Given the description of an element on the screen output the (x, y) to click on. 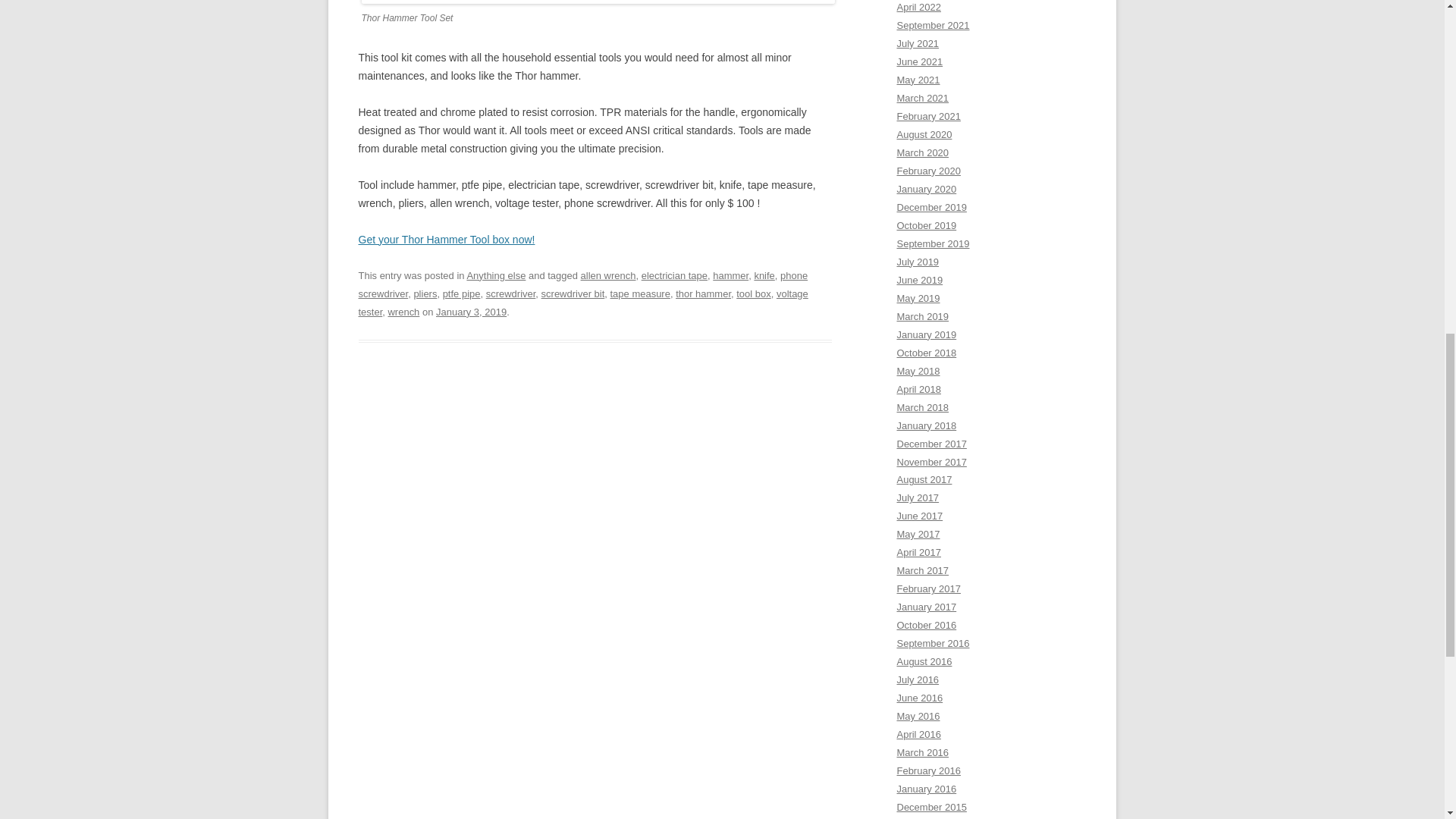
ptfe pipe (461, 293)
thor hammer (702, 293)
screwdriver bit (573, 293)
Get your Thor Hammer Tool box now! (446, 239)
allen wrench (608, 275)
tool box (753, 293)
pliers (424, 293)
wrench (403, 311)
electrician tape (674, 275)
6:30 pm (470, 311)
